Given the description of an element on the screen output the (x, y) to click on. 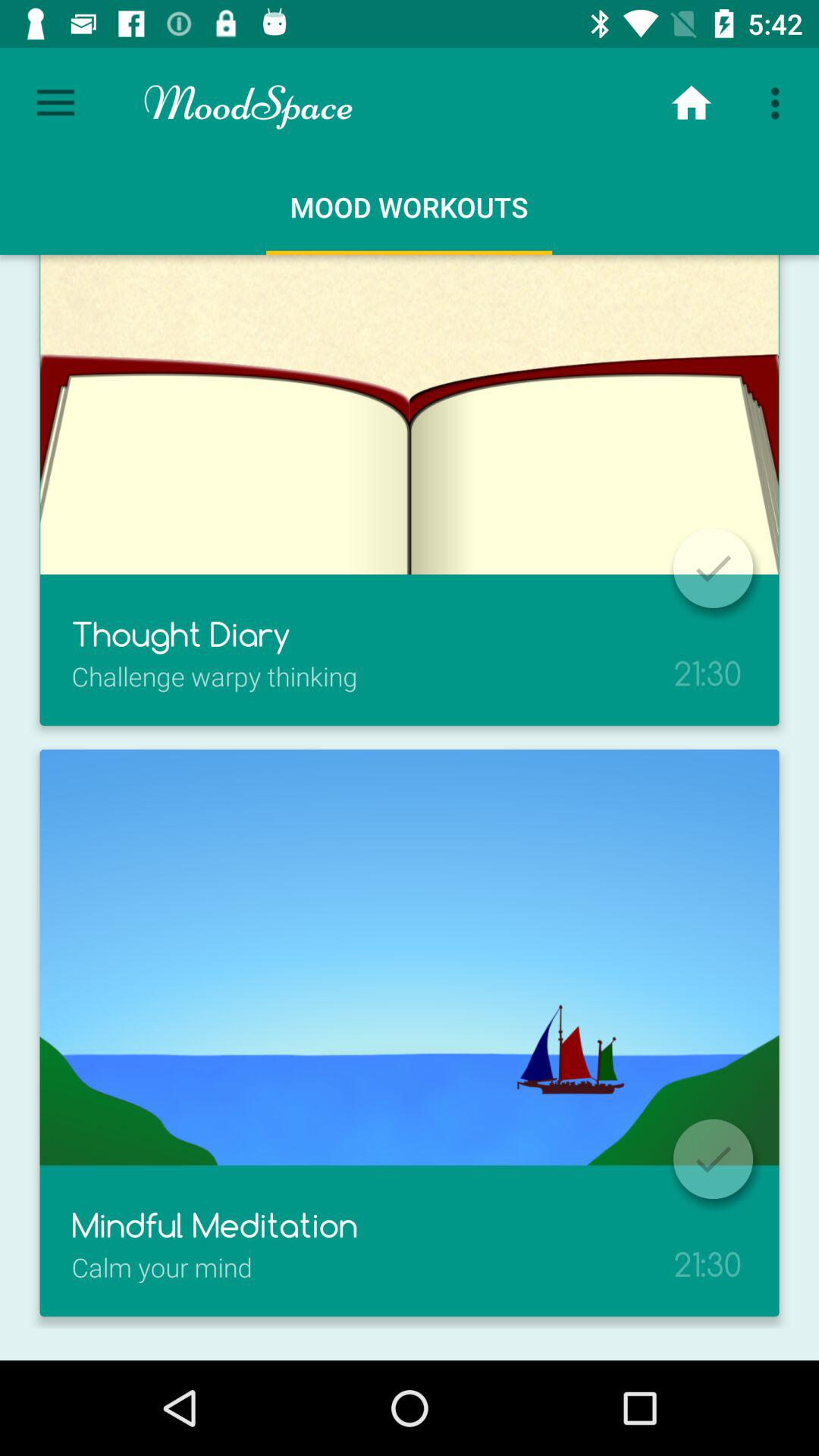
open item to the left of moodspace (55, 103)
